Given the description of an element on the screen output the (x, y) to click on. 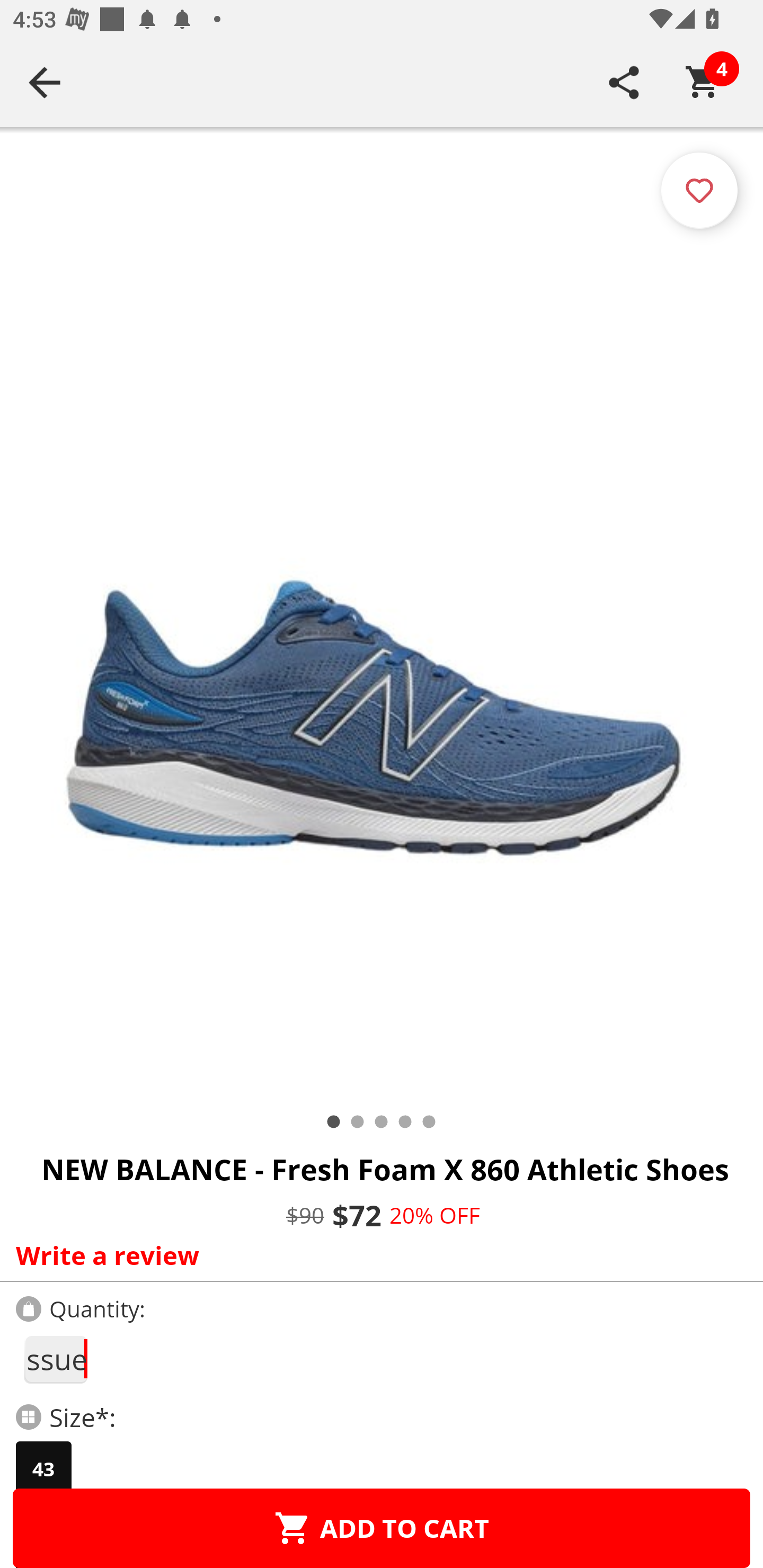
Navigate up (44, 82)
SHARE (623, 82)
Cart (703, 81)
Write a review (377, 1255)
1lamptissue (55, 1358)
43 (43, 1468)
ADD TO CART (381, 1528)
